Given the description of an element on the screen output the (x, y) to click on. 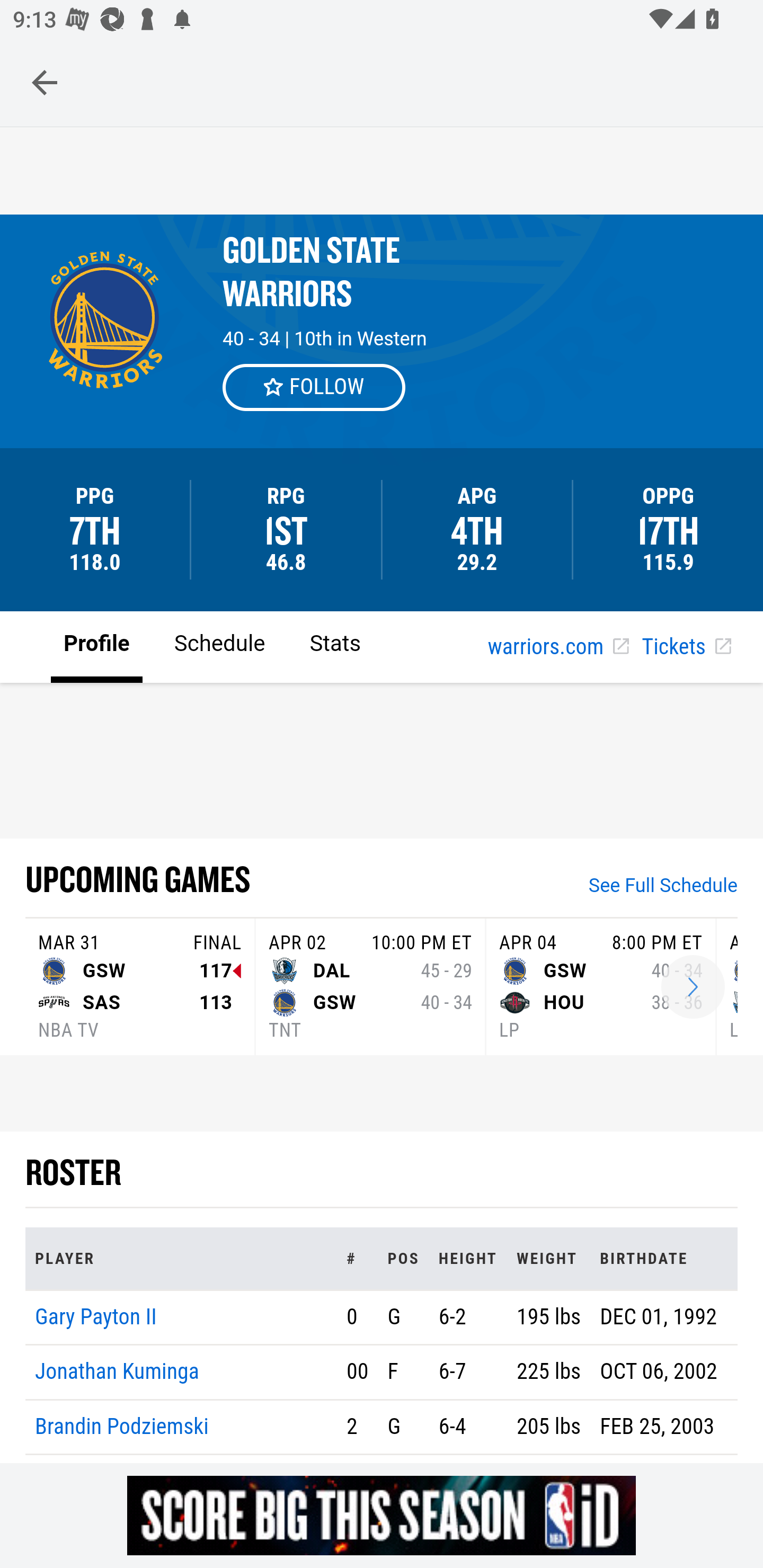
Navigate up (44, 82)
FOLLOW (314, 386)
Profile (97, 646)
Schedule (219, 646)
Stats (335, 646)
warriors.com (557, 647)
Tickets (685, 647)
See Full Schedule (662, 886)
Match-up Scores (692, 987)
Gary Payton II (96, 1316)
Jonathan Kuminga (117, 1372)
Brandin Podziemski (122, 1425)
g5nqqygr7owph (381, 1515)
